Given the description of an element on the screen output the (x, y) to click on. 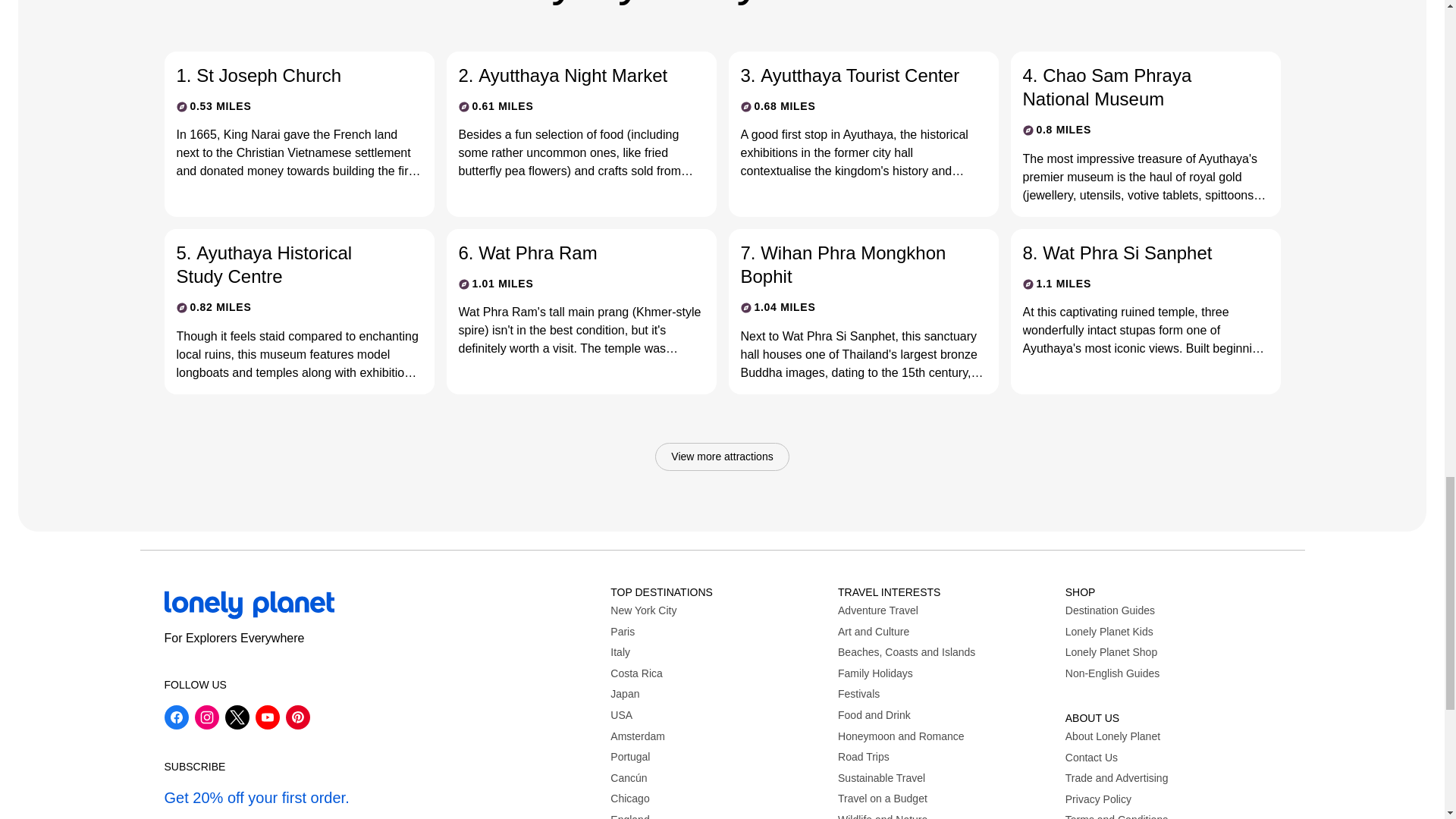
2. Ayutthaya Night Market (568, 74)
4. Chao Sam Phraya National Museum (1132, 86)
View more attractions (722, 457)
6. Wat Phra Ram (568, 252)
5. Ayuthaya Historical Study Centre (286, 264)
1. St Joseph Church (286, 74)
8. Wat Phra Si Sanphet (1132, 252)
7. Wihan Phra Mongkhon Bophit (849, 264)
3. Ayutthaya Tourist Center (849, 74)
